Given the description of an element on the screen output the (x, y) to click on. 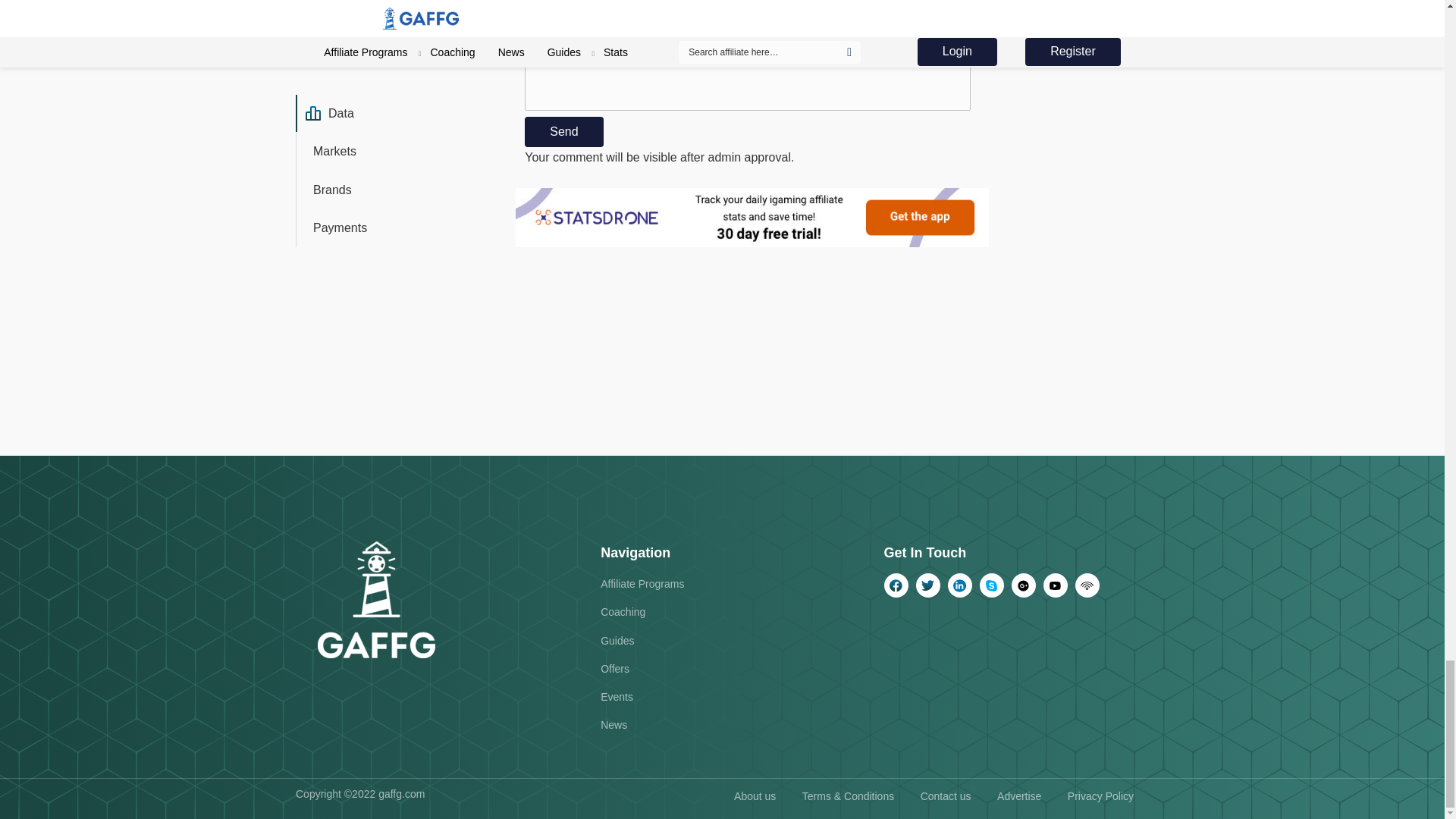
Share on Google Plus (1023, 585)
Share on Youtube (1055, 585)
Share on Rss (1087, 585)
Send (563, 132)
Share on LinkedIn (959, 585)
Affiliate Programs (641, 583)
Share on Skype (991, 585)
